Given the description of an element on the screen output the (x, y) to click on. 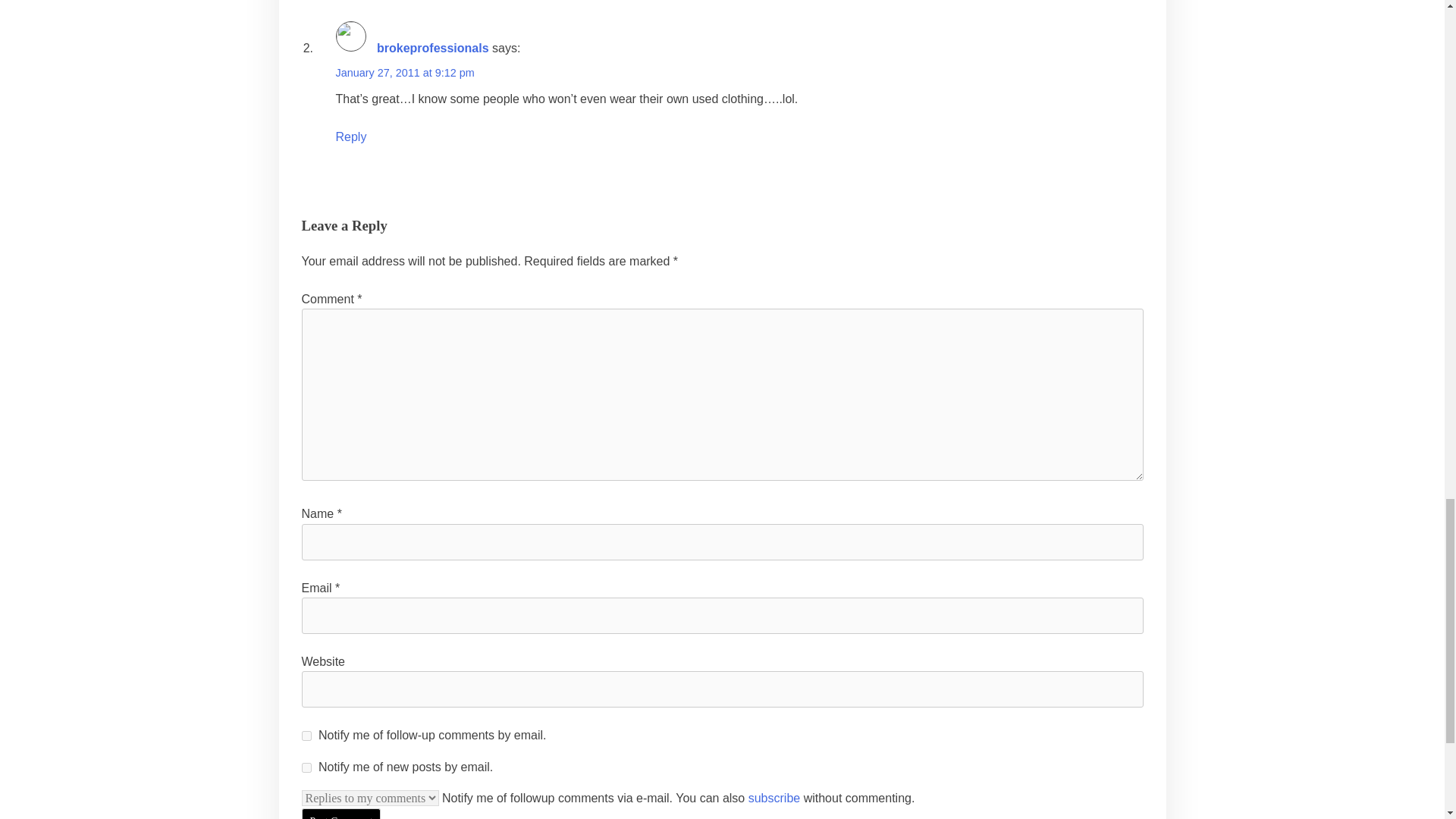
Reply (350, 136)
Post Comment (341, 813)
subscribe (306, 736)
subscribe (773, 797)
brokeprofessionals (433, 47)
Post Comment (341, 813)
January 27, 2011 at 9:12 pm (404, 72)
subscribe (306, 767)
